Given the description of an element on the screen output the (x, y) to click on. 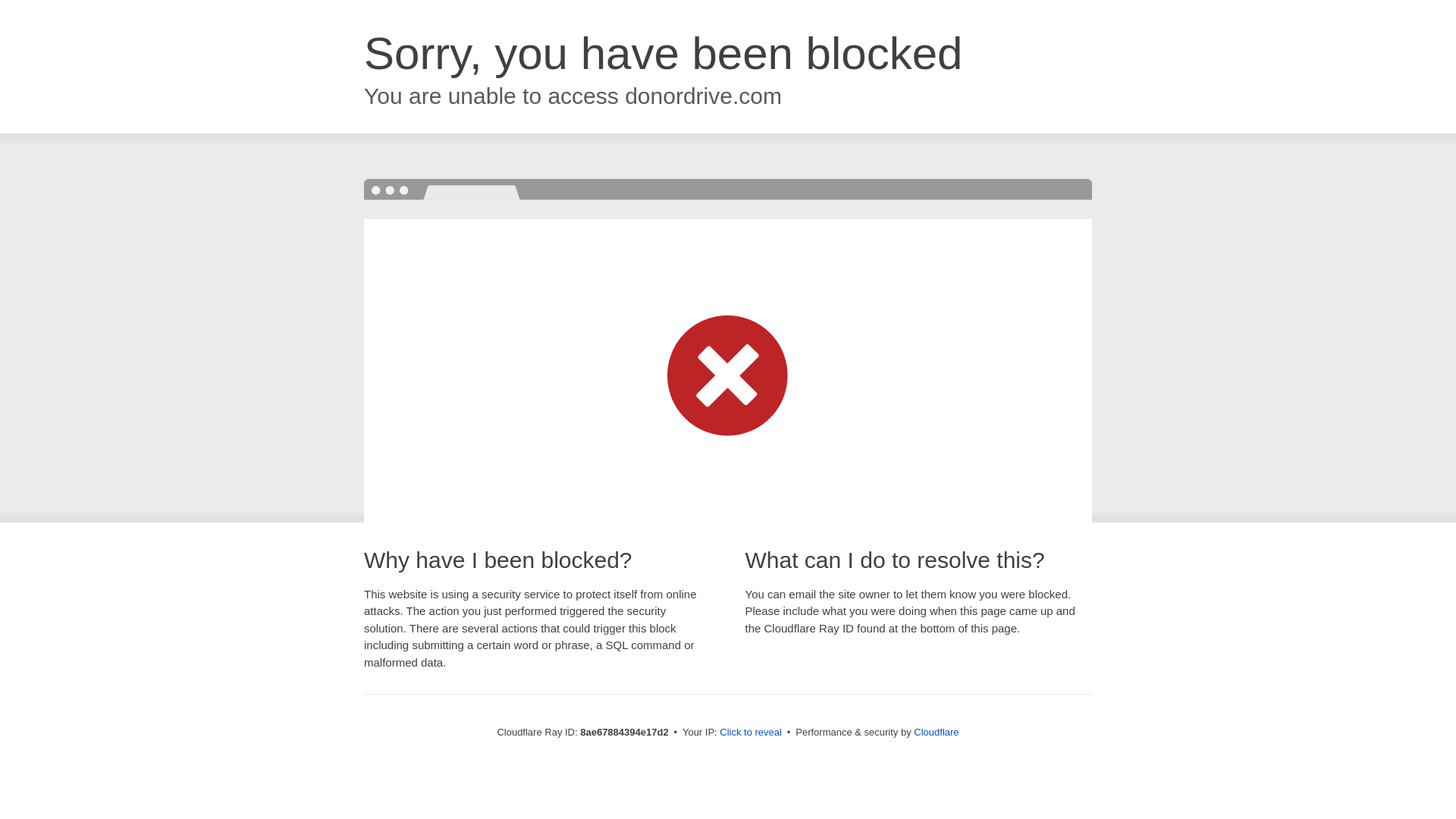
Click to reveal (750, 732)
Cloudflare (936, 731)
